Given the description of an element on the screen output the (x, y) to click on. 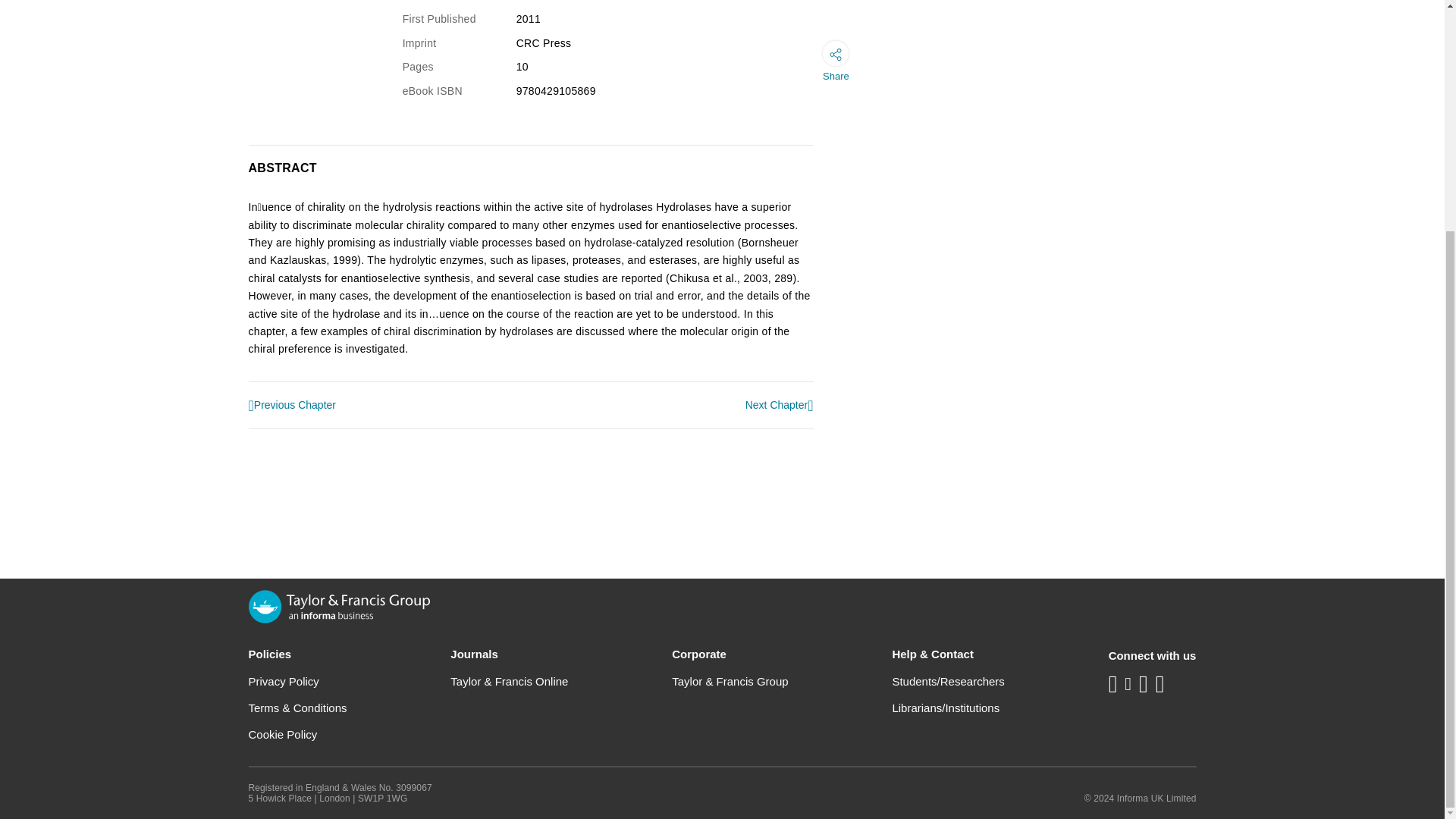
Transferases and chiral discrimination (292, 406)
Previous Chapter (292, 406)
Cookie Policy (282, 734)
Privacy Policy (283, 681)
Next Chapter (779, 405)
